Given the description of an element on the screen output the (x, y) to click on. 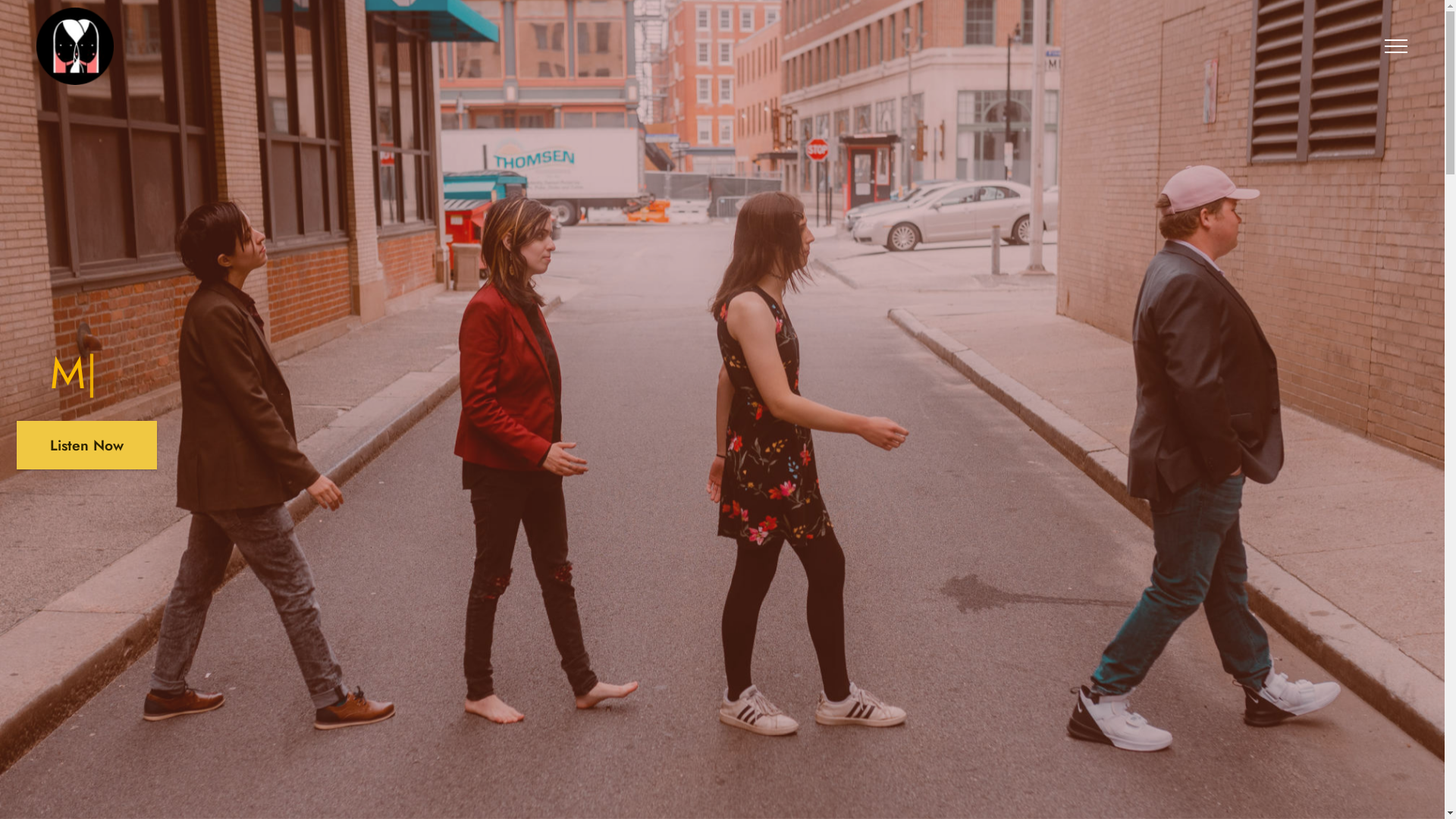
Listen Now Element type: text (86, 444)
